Given the description of an element on the screen output the (x, y) to click on. 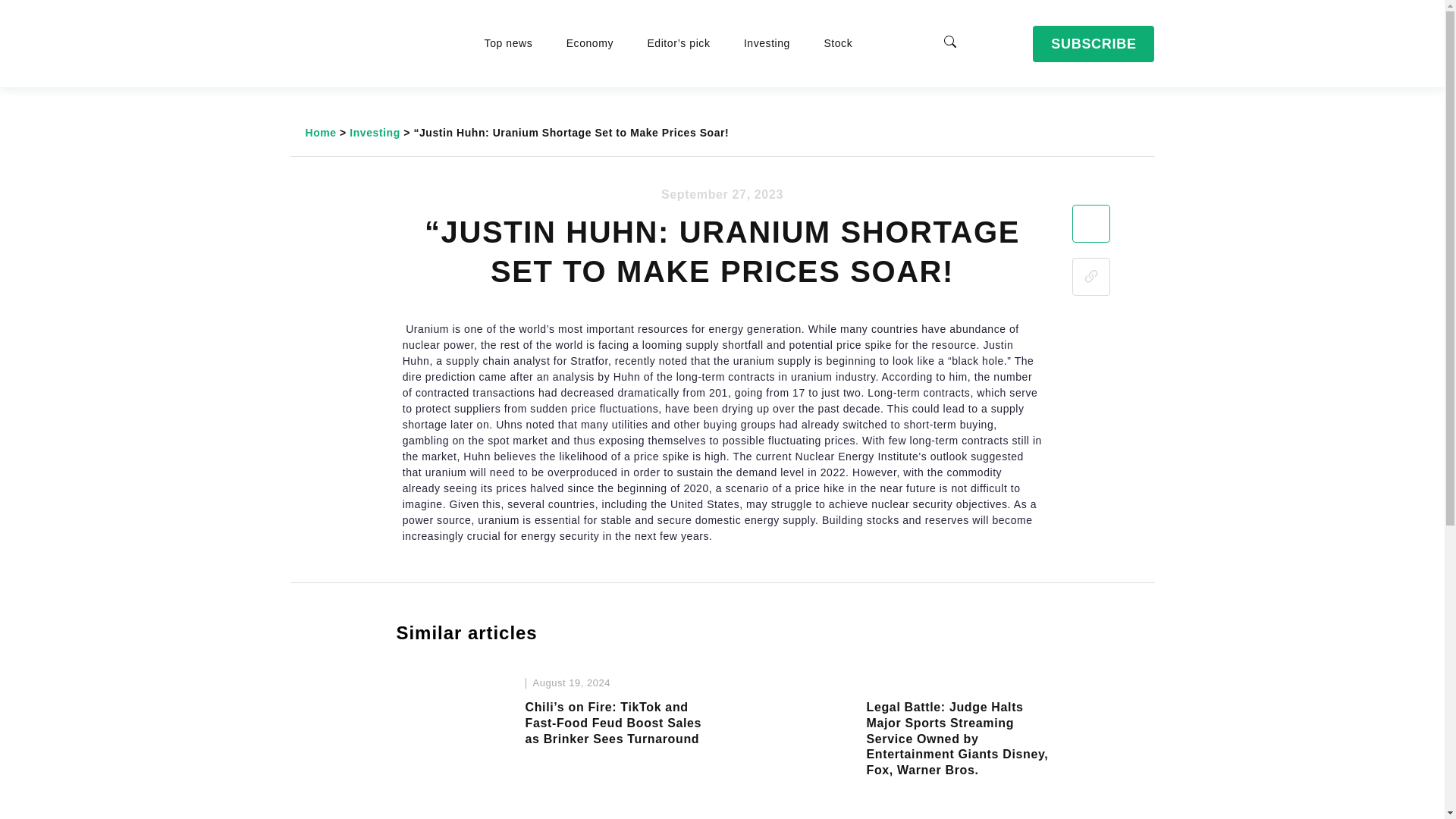
Top news (509, 42)
Investing (374, 132)
Investing (768, 42)
Economy (591, 42)
Stock (837, 42)
SUBSCRIBE (1093, 43)
Home (320, 132)
